Given the description of an element on the screen output the (x, y) to click on. 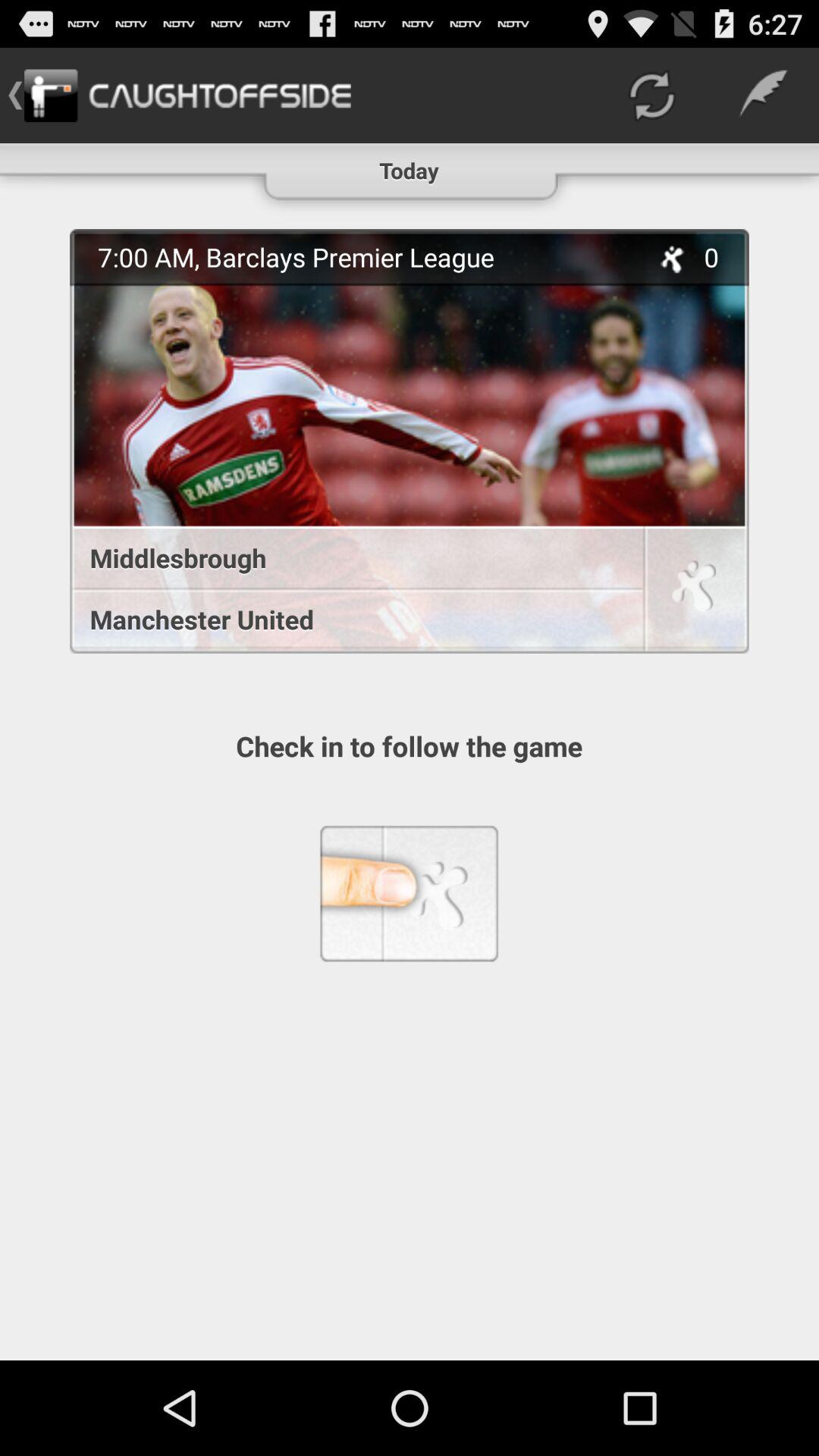
launch the 7 00 am item (364, 256)
